Given the description of an element on the screen output the (x, y) to click on. 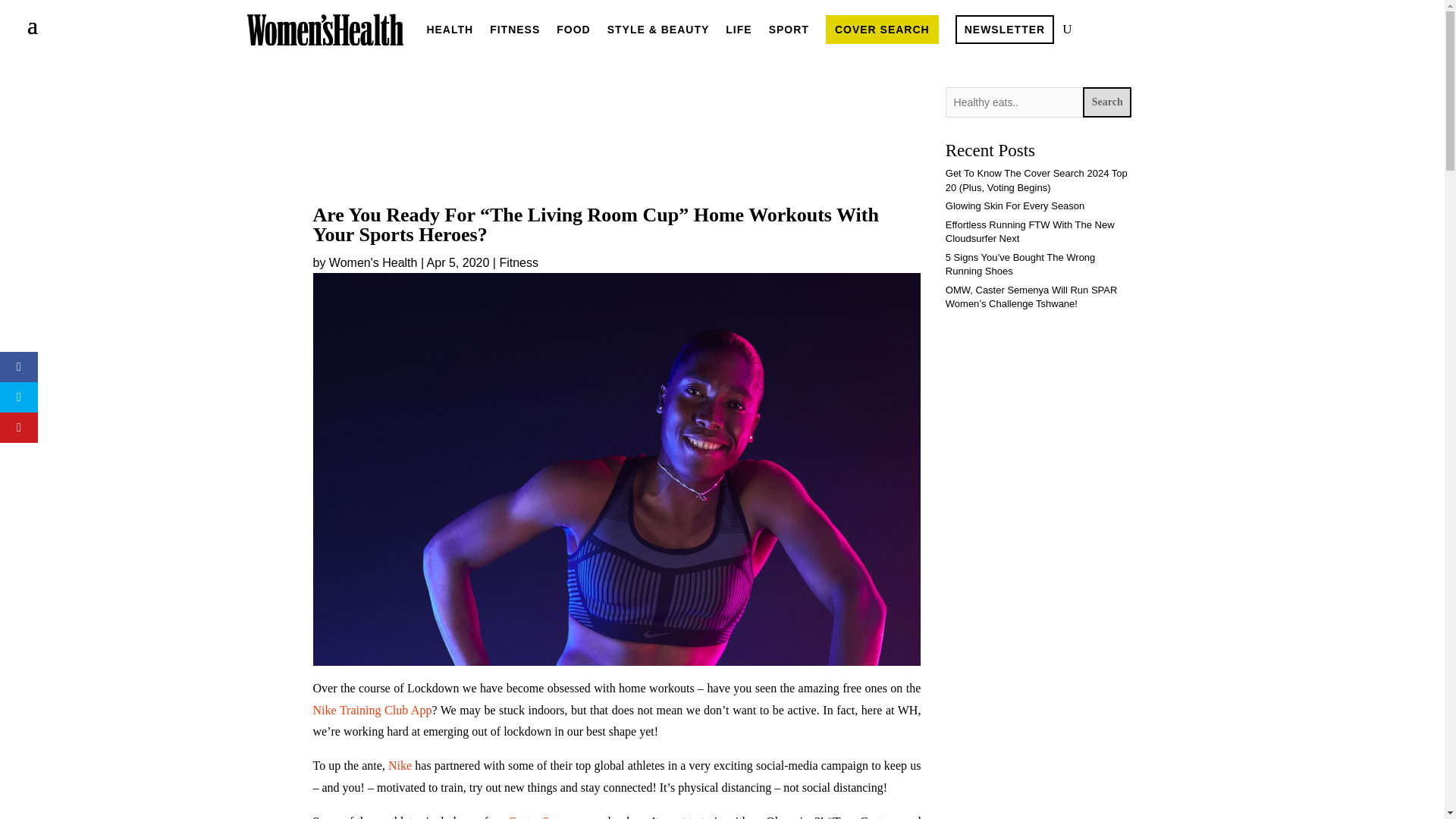
3rd party ad content (616, 136)
Posts by Women's Health (373, 262)
